Given the description of an element on the screen output the (x, y) to click on. 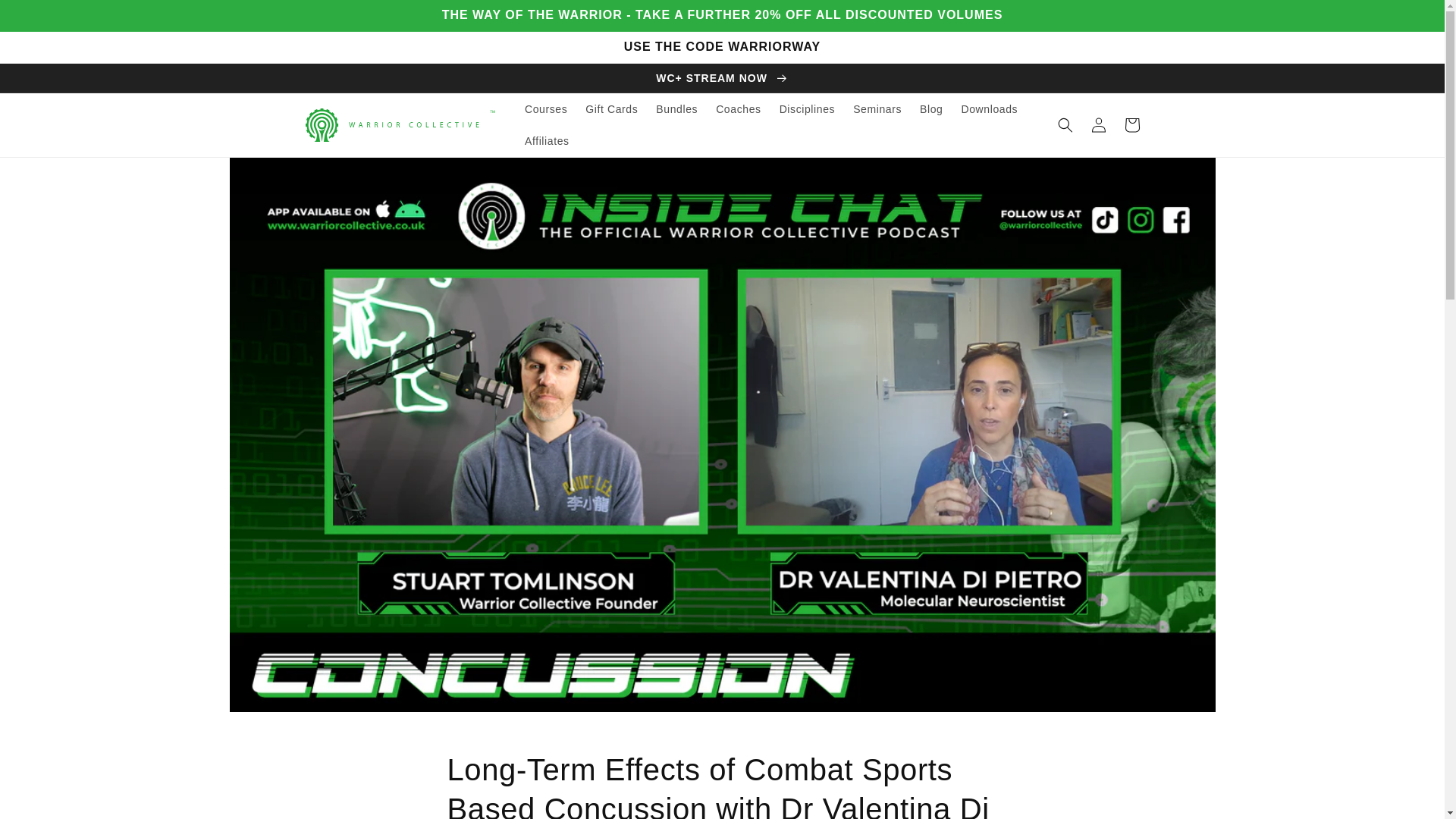
Coaches (738, 109)
Bundles (676, 109)
Seminars (877, 109)
Downloads (989, 109)
Blog (931, 109)
Cart (1131, 124)
Affiliates (546, 141)
Courses (545, 109)
Log in (1098, 124)
Skip to content (45, 17)
